Given the description of an element on the screen output the (x, y) to click on. 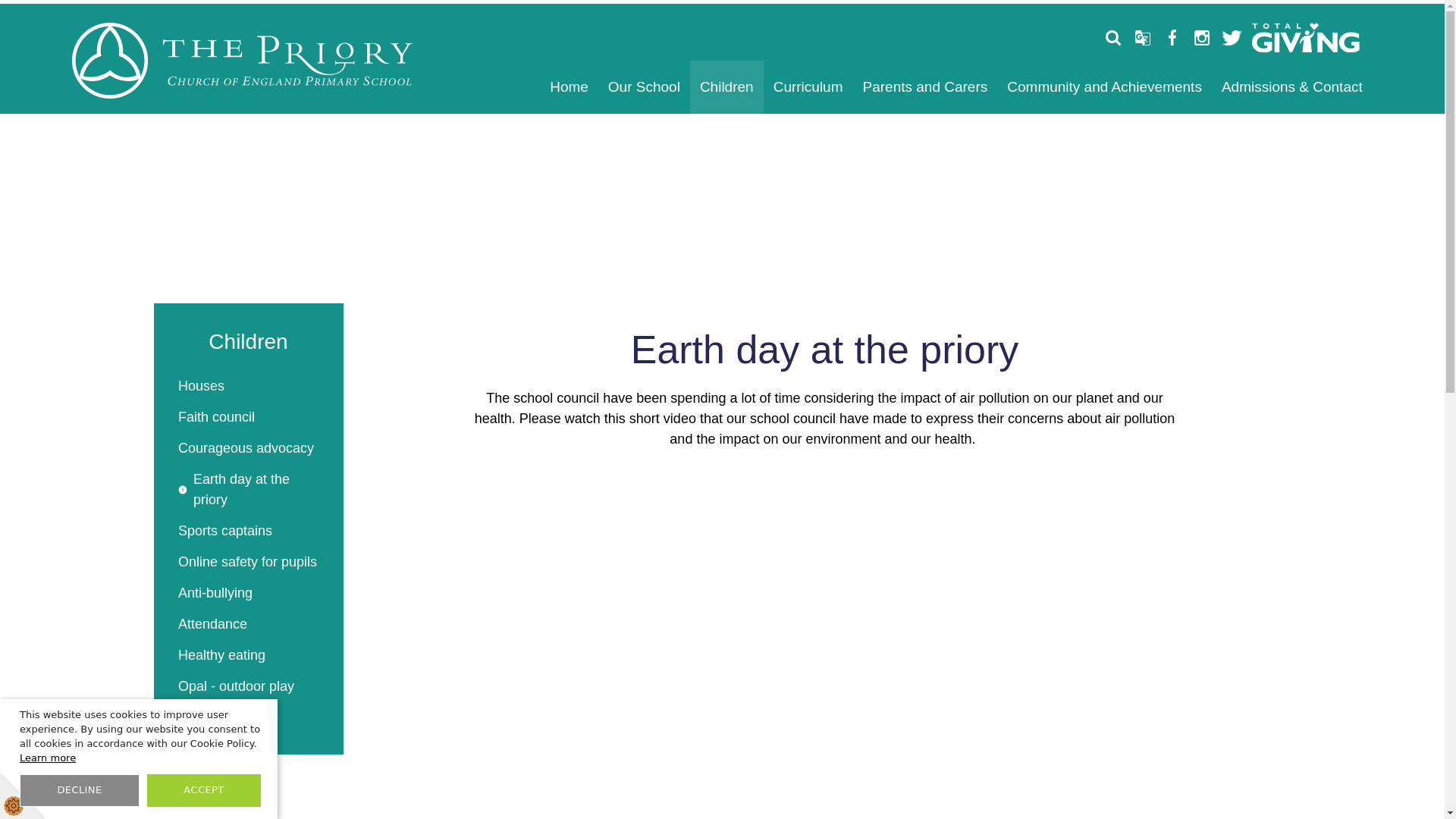
Our School (644, 86)
Curriculum (807, 86)
Home (569, 86)
Children (726, 86)
